Given the description of an element on the screen output the (x, y) to click on. 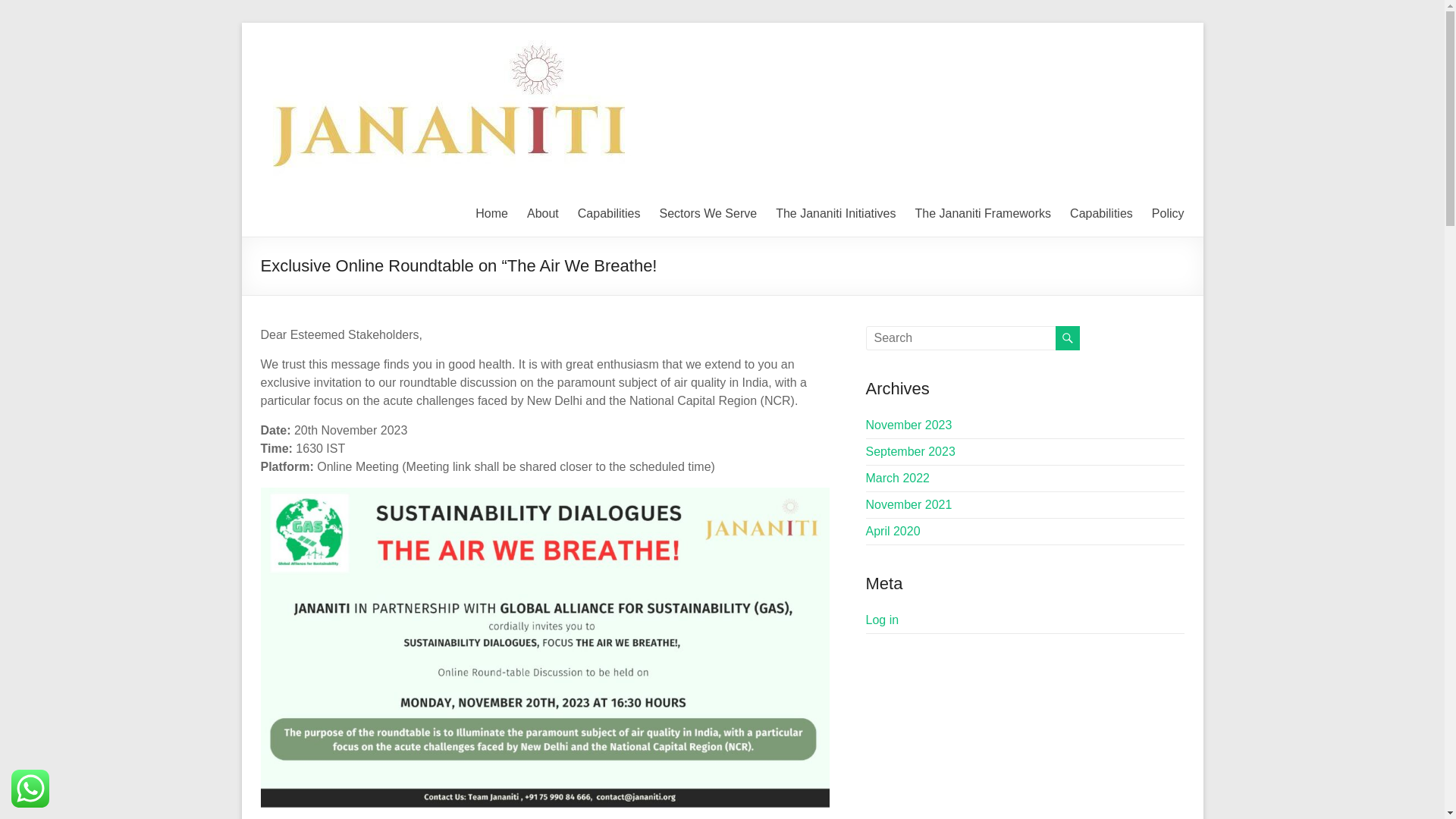
Home (492, 213)
About (543, 213)
Sectors We Serve (708, 213)
Capabilities (609, 213)
The Jananiti Frameworks (982, 213)
The Jananiti Initiatives (835, 213)
